Given the description of an element on the screen output the (x, y) to click on. 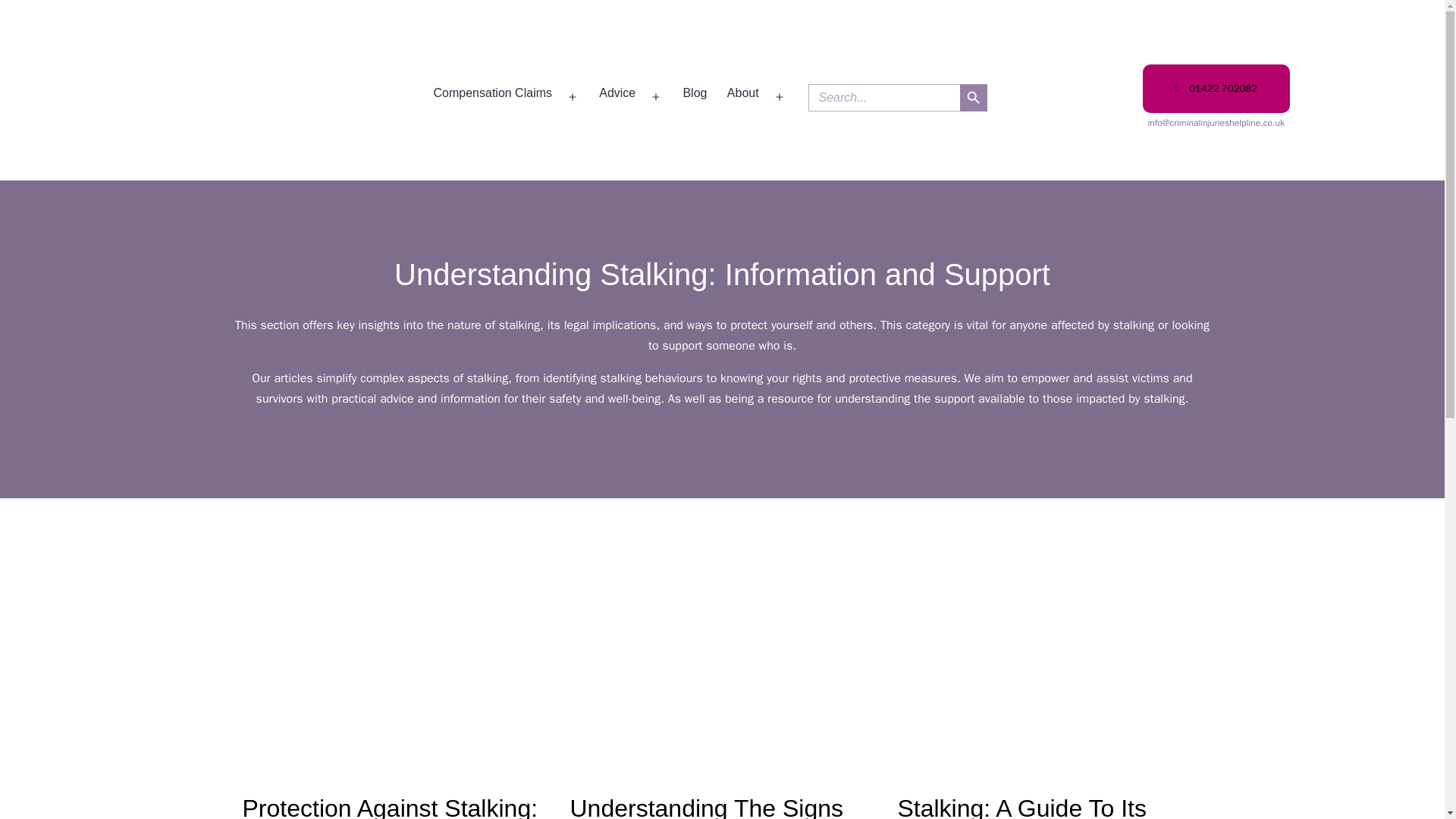
Search Button (973, 97)
Compensation Claims (492, 97)
About (1216, 88)
Blog (742, 97)
Advice (694, 97)
Protection Against Stalking: Your Comprehensive Safety Guide (617, 97)
